Given the description of an element on the screen output the (x, y) to click on. 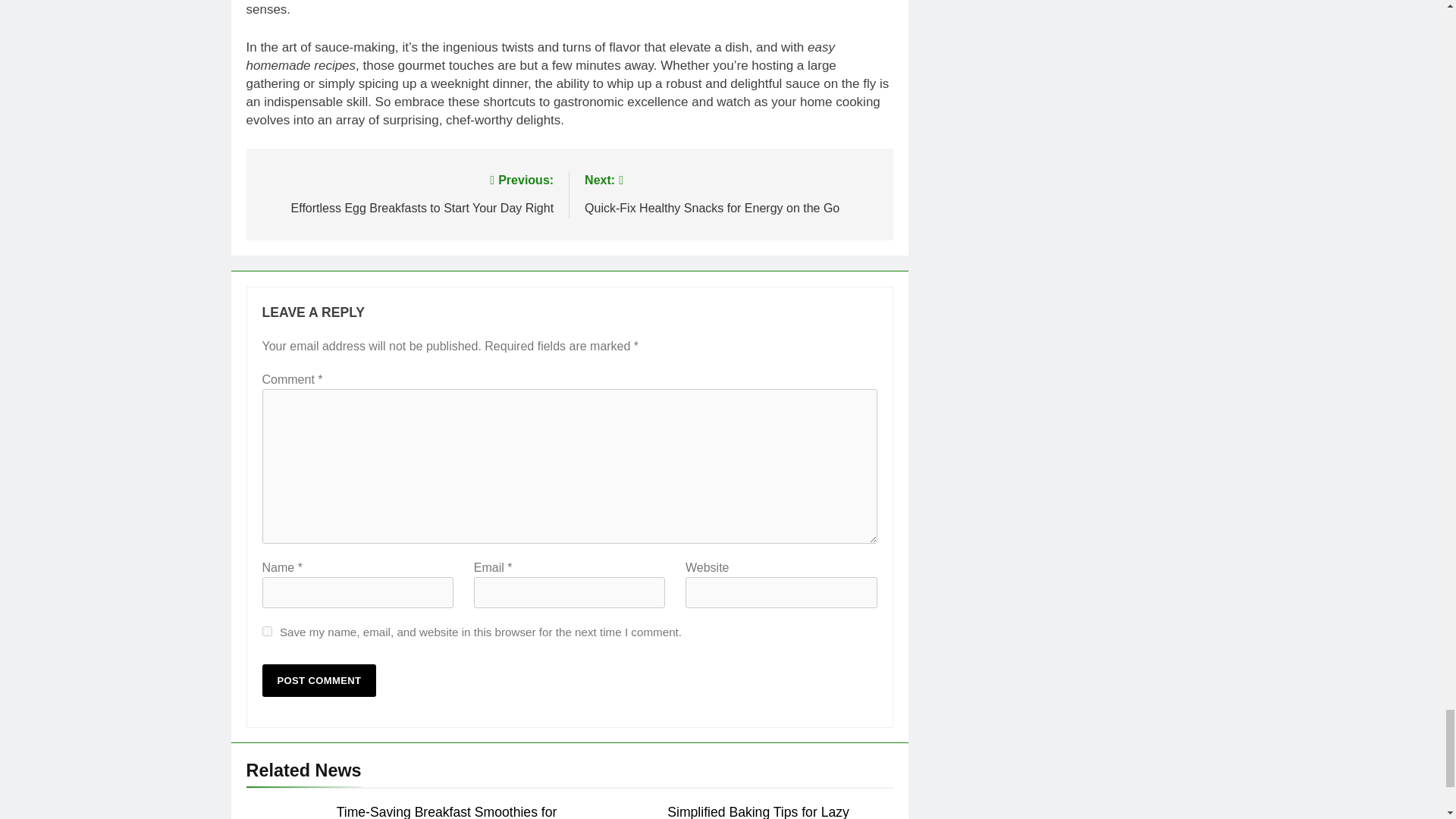
yes (406, 192)
Post Comment (267, 631)
Time-Saving Breakfast Smoothies for a Quick Start (319, 680)
Simplified Baking Tips for Lazy Bakers (731, 192)
Post Comment (446, 811)
